Given the description of an element on the screen output the (x, y) to click on. 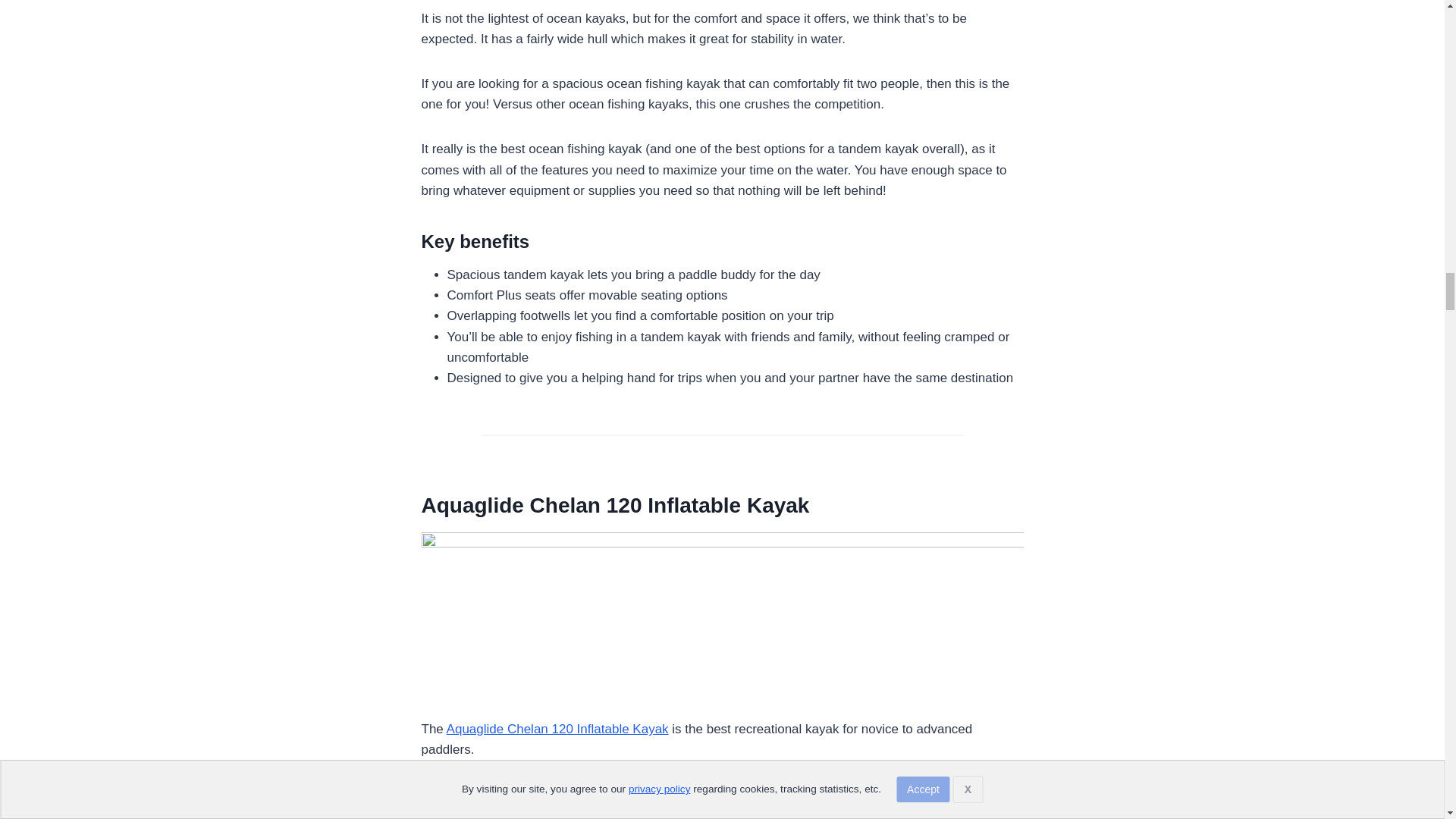
Aquaglide Chelan 120 Inflatable Kayak (557, 728)
Aquaglide Chelan 120 Inflatable Kayak (615, 504)
